Given the description of an element on the screen output the (x, y) to click on. 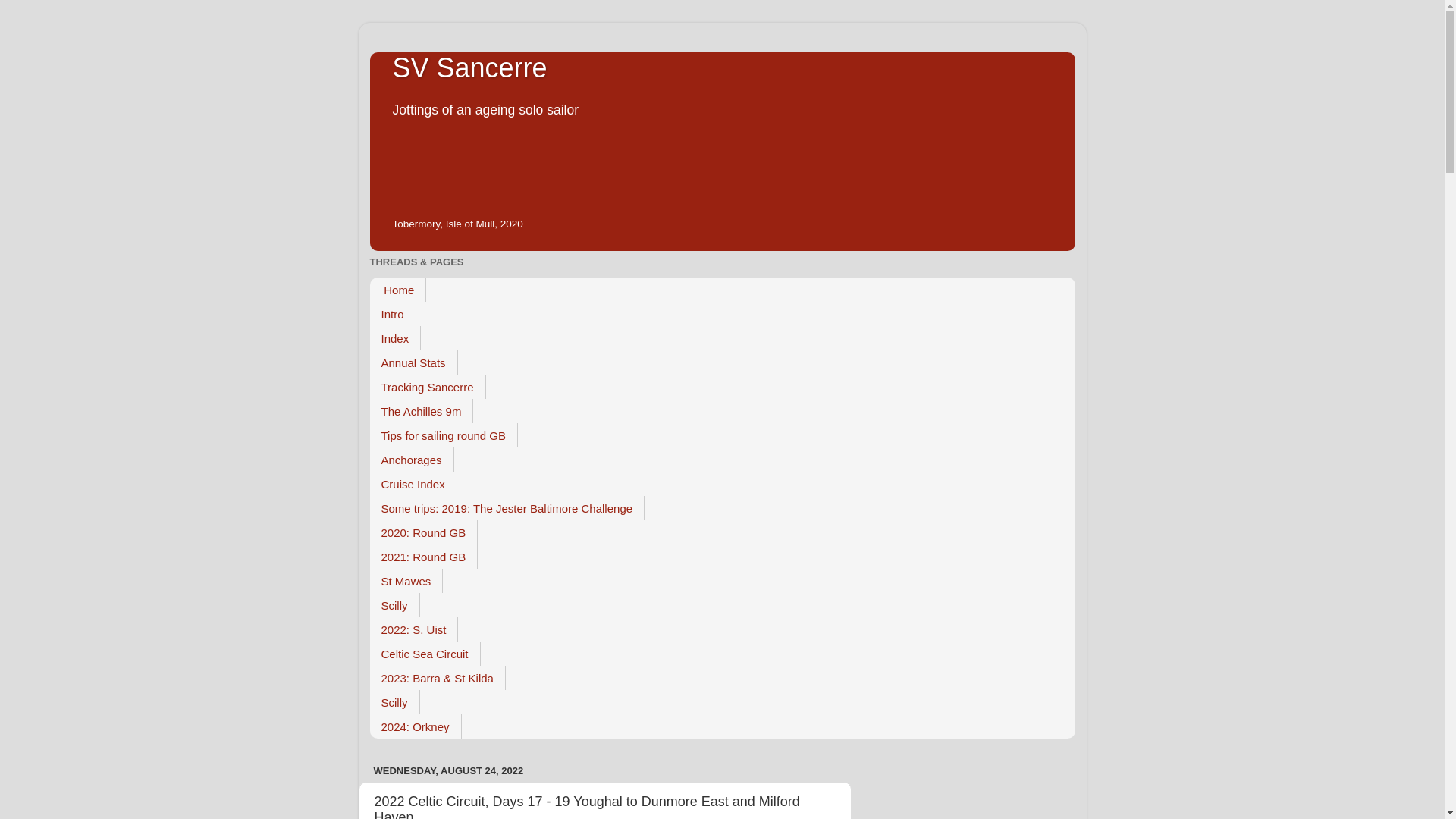
2021: Round GB (424, 556)
Intro (392, 313)
Tips for sailing round GB (443, 435)
SV Sancerre (470, 67)
Home (397, 289)
Some trips: 2019: The Jester Baltimore Challenge (507, 508)
St Mawes (406, 580)
Scilly (394, 702)
Annual Stats (413, 362)
Cruise Index (413, 483)
